Given the description of an element on the screen output the (x, y) to click on. 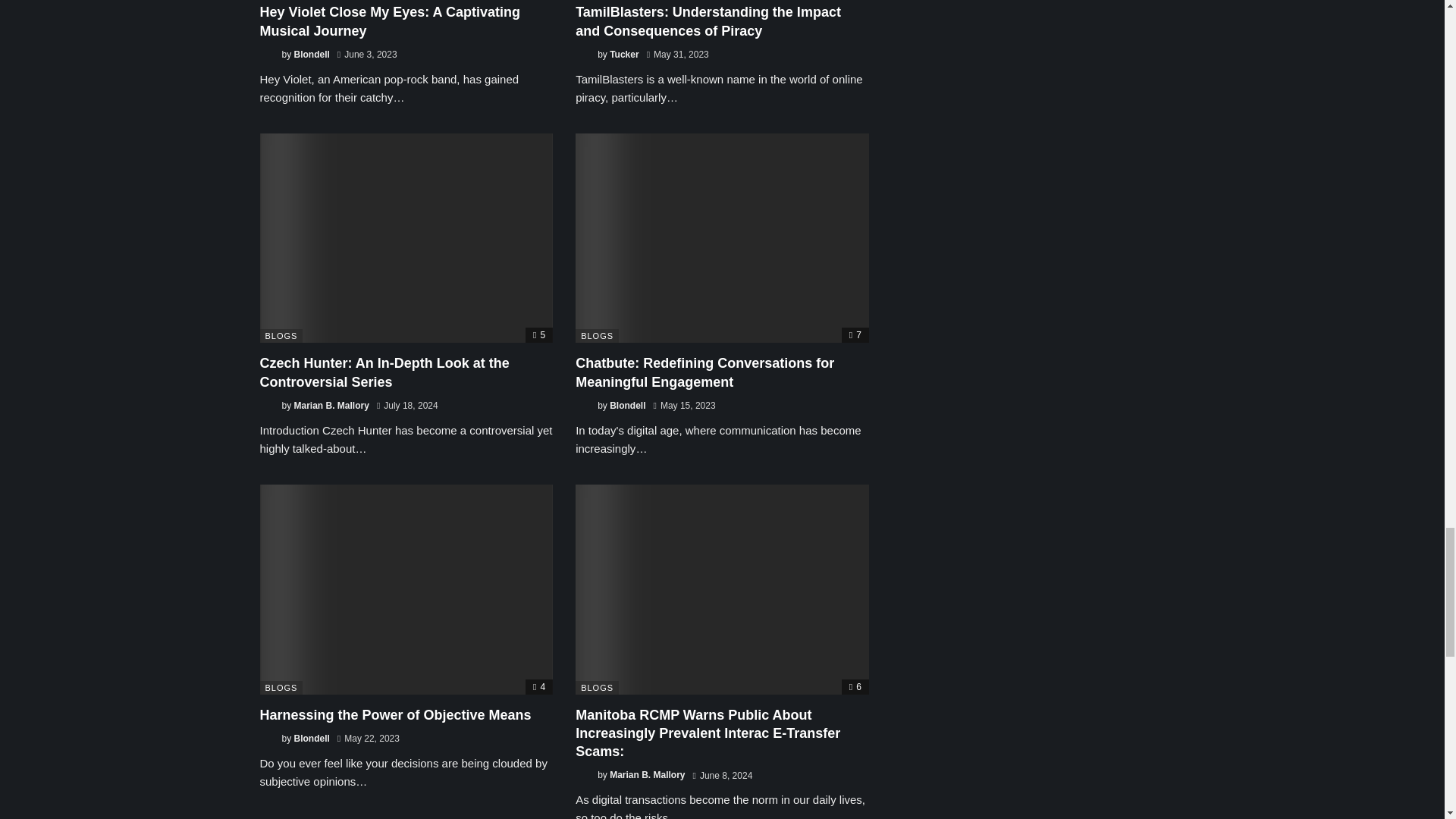
Chatbute: Redefining Conversations for Meaningful Engagement (722, 238)
Czech Hunter: An In-Depth Look at the Controversial Series (383, 372)
Czech Hunter: An In-Depth Look at the Controversial Series (406, 238)
Chatbute: Redefining Conversations for Meaningful Engagement (704, 372)
Hey Violet Close My Eyes: A Captivating Musical Journey (389, 20)
Harnessing the Power of Objective Means (395, 713)
Harnessing the Power of Objective Means (406, 588)
